Given the description of an element on the screen output the (x, y) to click on. 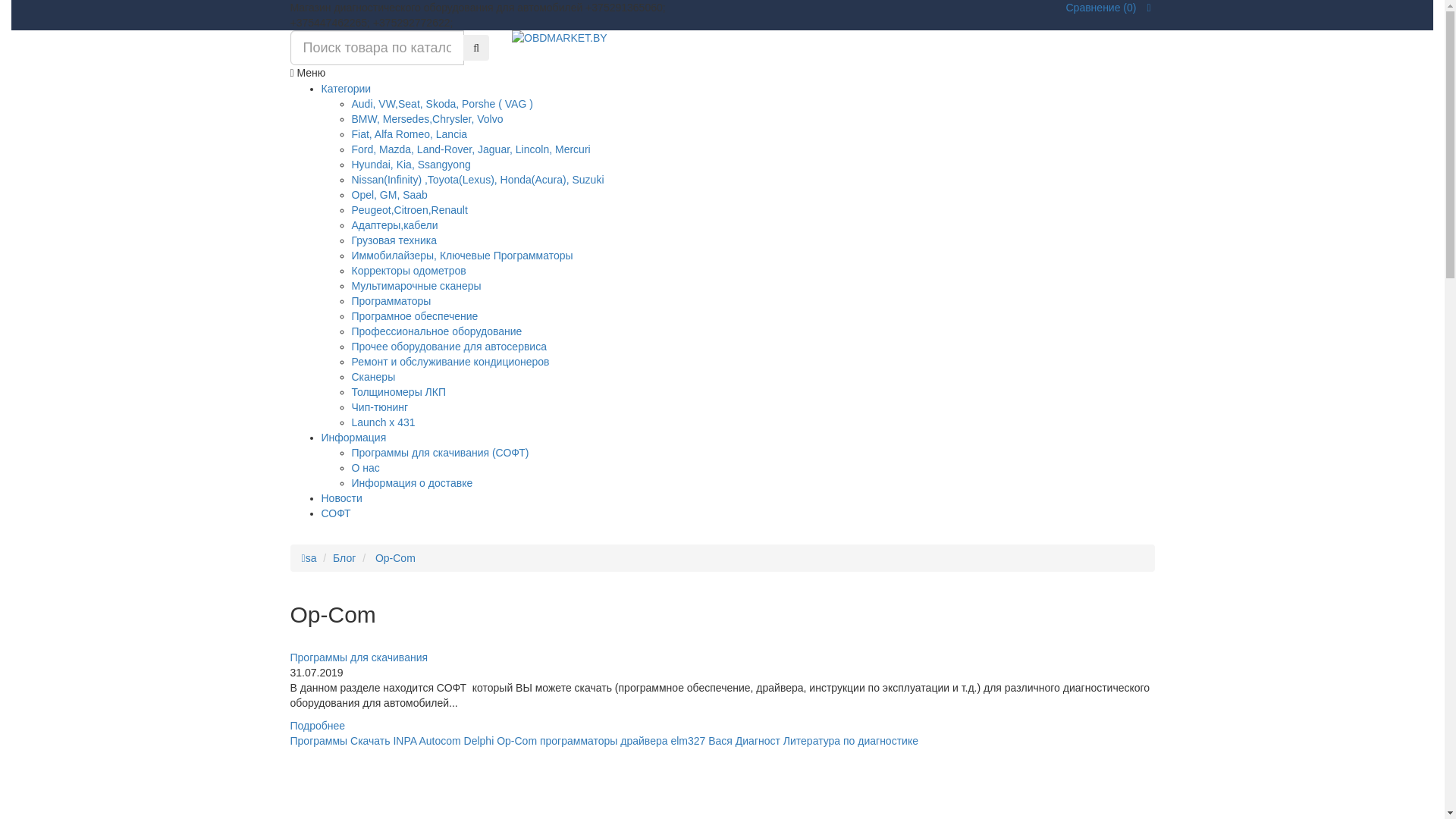
OBDMARKET.BY Element type: hover (721, 37)
Op-Com Element type: text (393, 558)
Peugeot,Citroen,Renault Element type: text (409, 209)
INPA Element type: text (404, 740)
Opel, GM, Saab Element type: text (389, 194)
Delphi Element type: text (479, 740)
Fiat, Alfa Romeo, Lancia Element type: text (409, 134)
BMW, Mersedes,Chrysler, Volvo Element type: text (427, 118)
Audi, VW,Seat, Skoda, Porshe ( VAG ) Element type: text (442, 103)
Hyundai, Kia, Ssangyong Element type: text (410, 164)
Nissan(Infinity) ,Toyota(Lexus), Honda(Acura), Suzuki Element type: text (477, 179)
elm327 Element type: text (687, 740)
Op-Com Element type: text (516, 740)
sa Element type: text (308, 558)
Autocom Element type: text (439, 740)
Launch x 431 Element type: text (383, 422)
Ford, Mazda, Land-Rover, Jaguar, Lincoln, Mercuri Element type: text (470, 149)
